Given the description of an element on the screen output the (x, y) to click on. 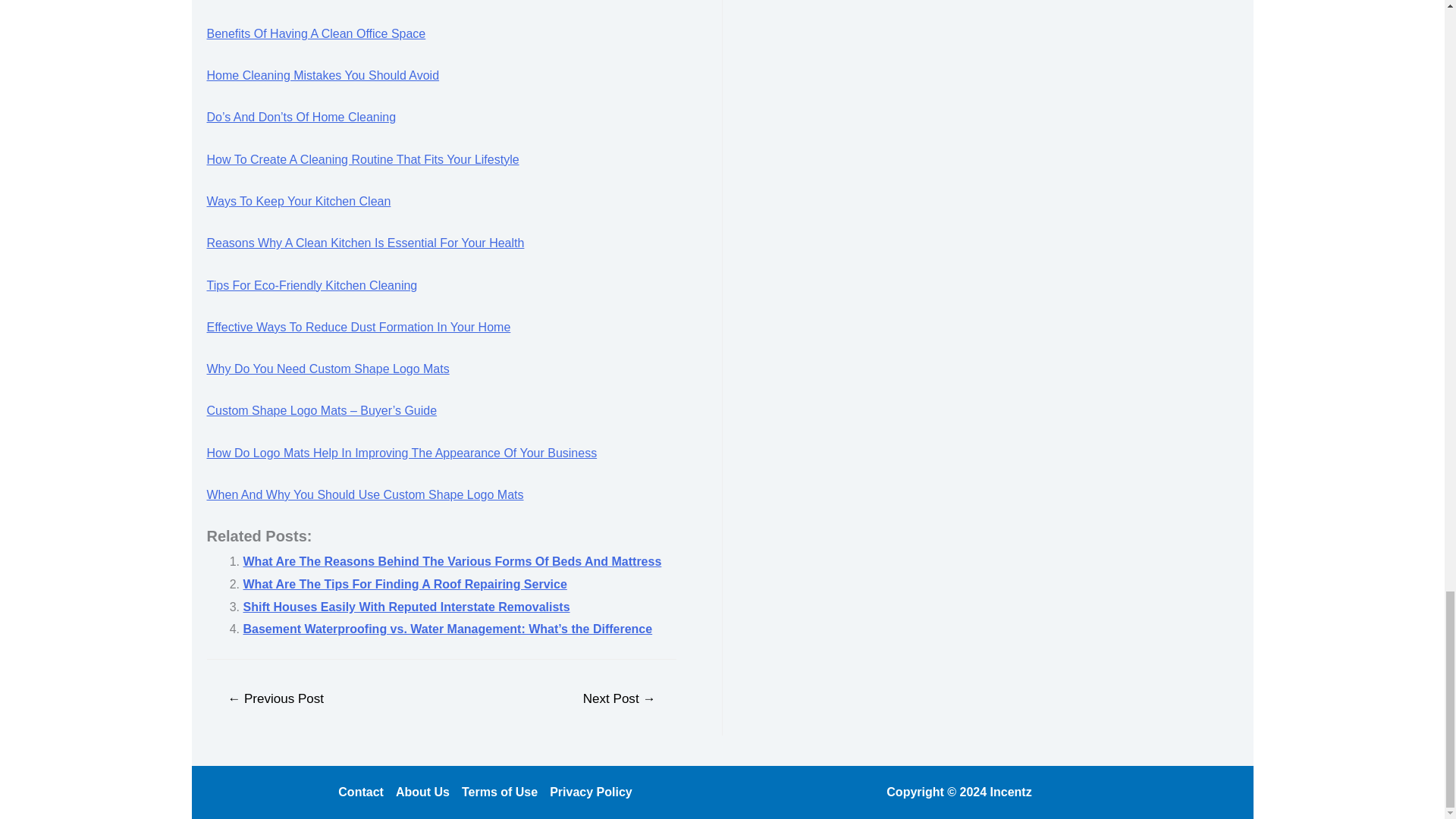
Tips For Eco-Friendly Kitchen Cleaning (311, 285)
Effective Ways To Reduce Dust Formation In Your Home (358, 327)
Benefits Of Having A Clean Office Space (315, 33)
How To Create A Cleaning Routine That Fits Your Lifestyle (362, 159)
Ways To Keep Your Kitchen Clean (298, 201)
Why Do You Need Custom Shape Logo Mats (327, 368)
What Are The Tips For Finding A Roof Repairing Service (404, 584)
Reasons Why A Clean Kitchen Is Essential For Your Health (365, 242)
Home Cleaning Mistakes You Should Avoid (322, 74)
Shift Houses Easily With Reputed Interstate Removalists (406, 606)
